Given the description of an element on the screen output the (x, y) to click on. 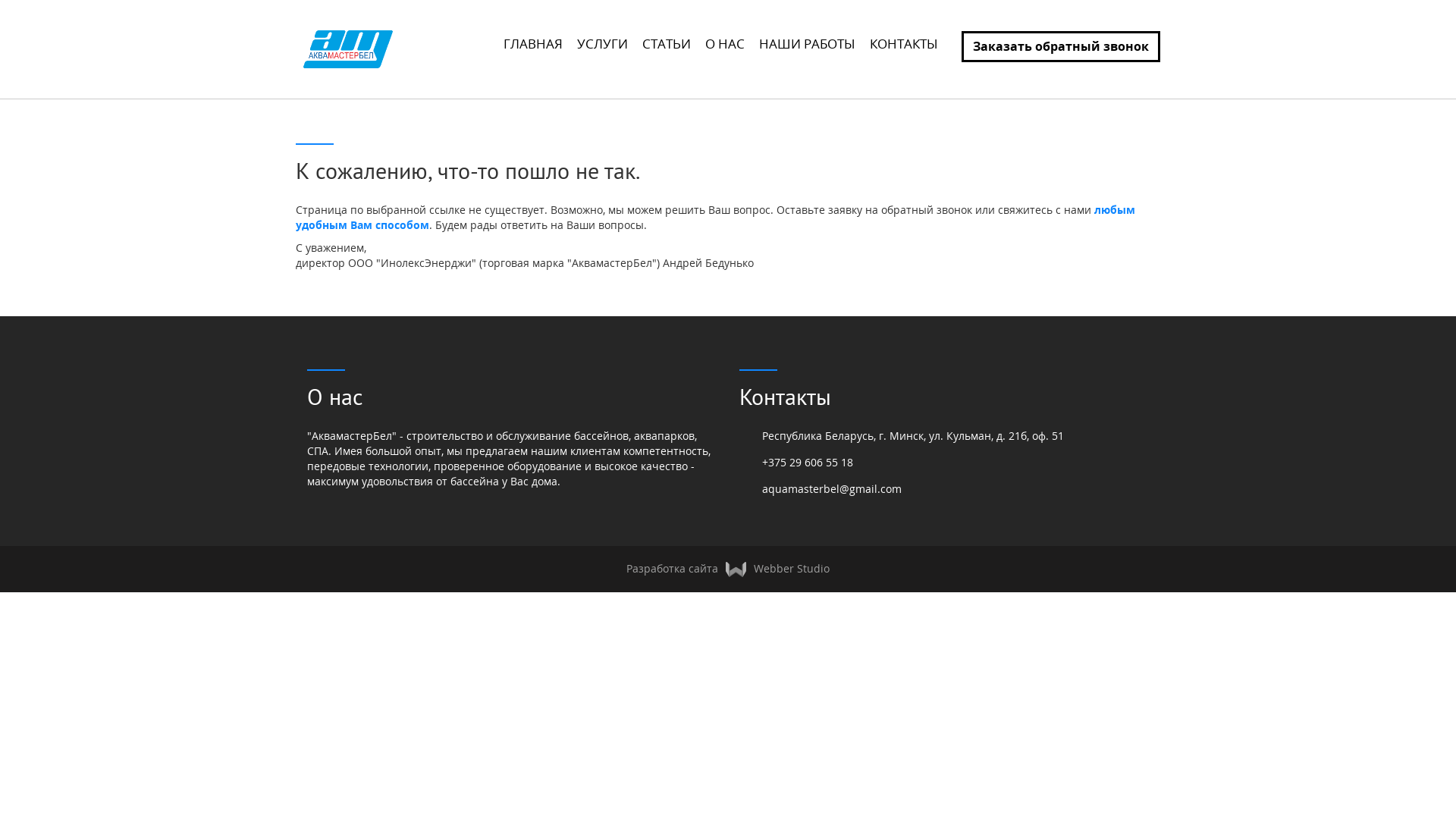
aquamasterbel@gmail.com Element type: text (831, 488)
Webber Studio Element type: text (773, 568)
